Given the description of an element on the screen output the (x, y) to click on. 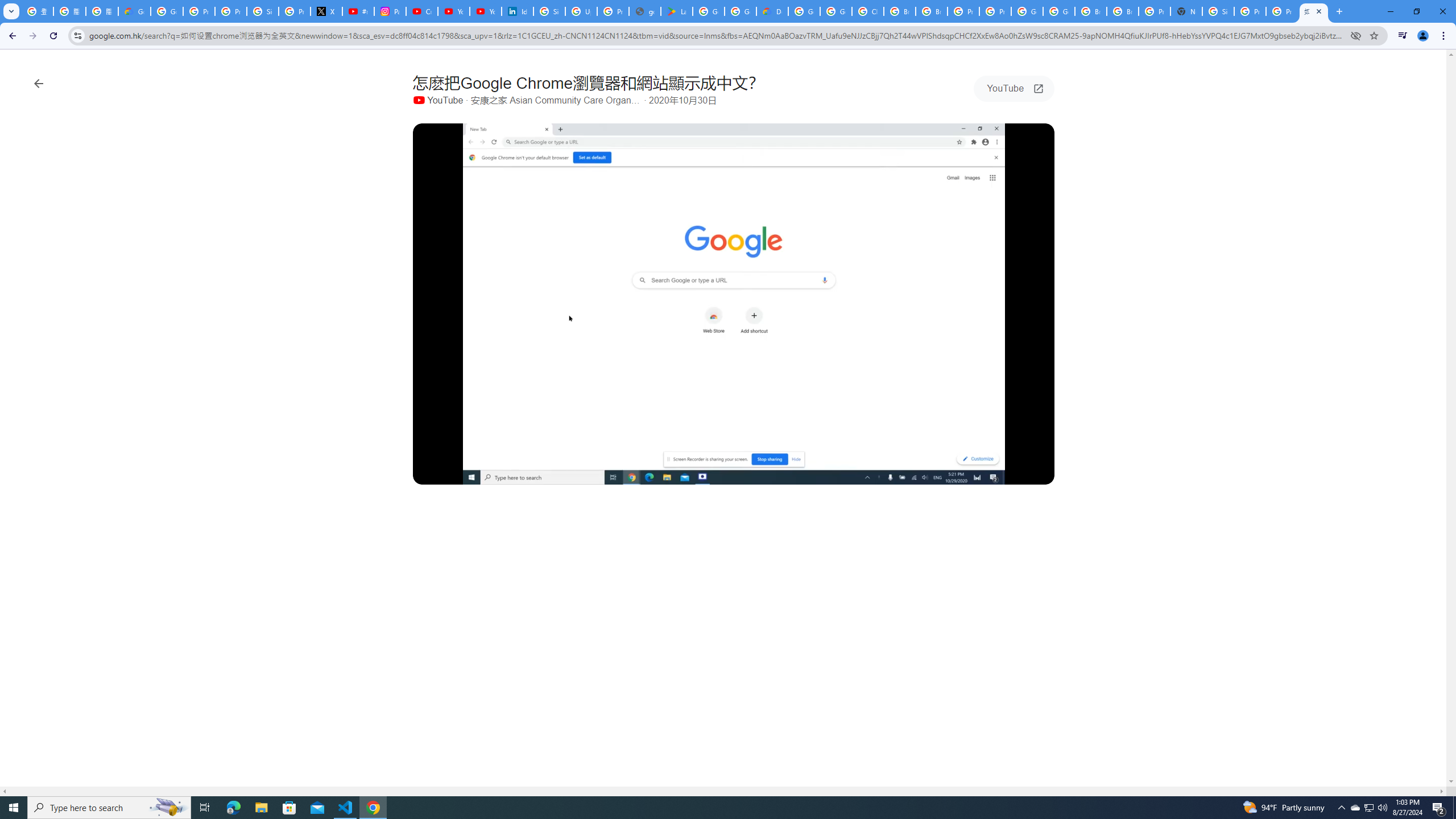
Sign in - Google Accounts (549, 11)
Sign in - Google Accounts (262, 11)
Google Cloud Platform (804, 11)
